Given the description of an element on the screen output the (x, y) to click on. 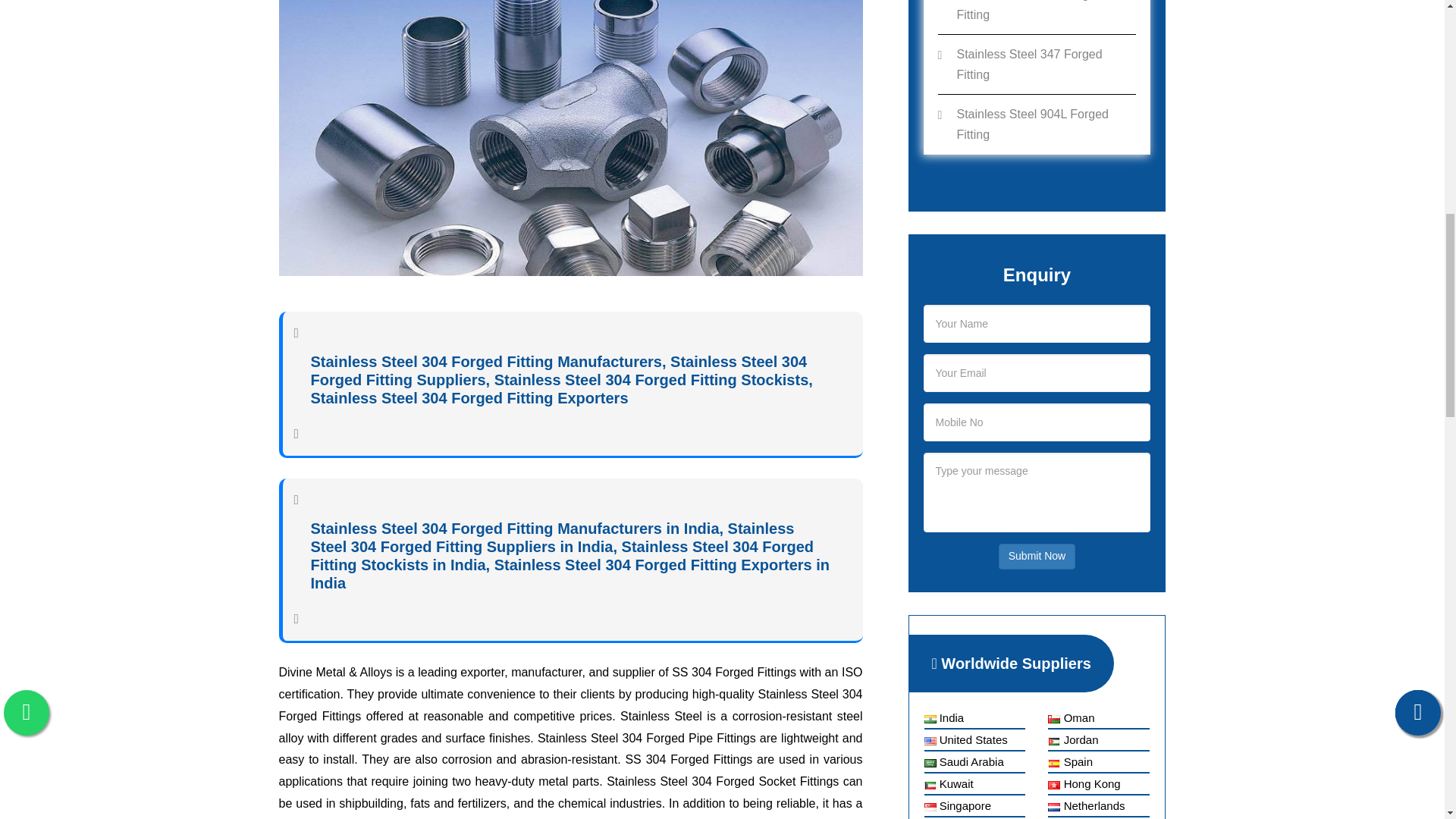
Submit Now (1036, 556)
